Given the description of an element on the screen output the (x, y) to click on. 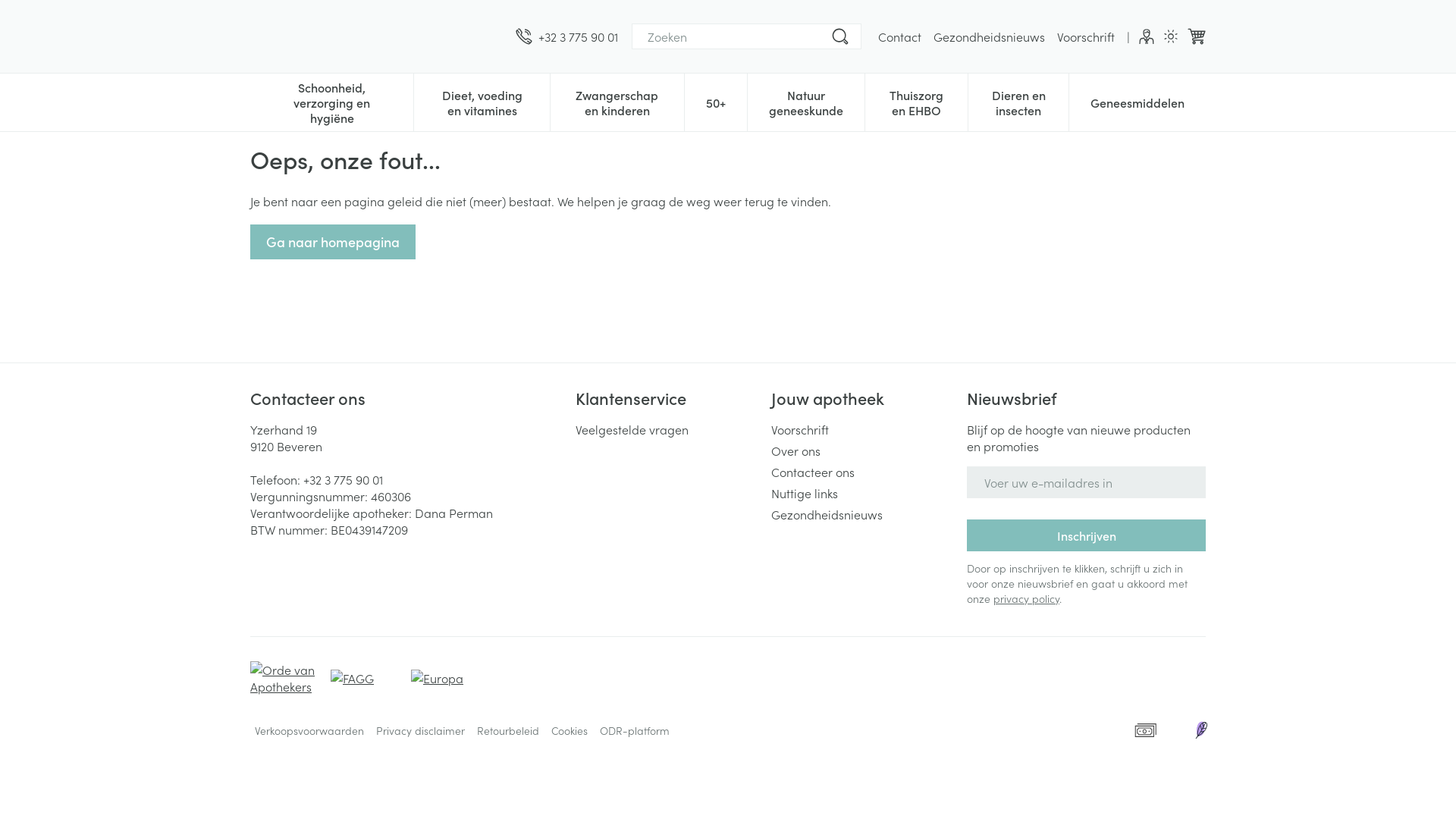
Zwangerschap en kinderen Element type: text (617, 100)
Winkelwagen Element type: text (1196, 36)
Dieren en insecten Element type: text (1018, 100)
Zoeken Element type: text (840, 36)
Over ons Element type: text (862, 450)
Thuiszorg en EHBO Element type: text (916, 100)
Nuttige links Element type: text (862, 492)
Natuur geneeskunde Element type: text (805, 100)
50+ Element type: text (715, 100)
Inschrijven Element type: text (1085, 535)
+32 3 775 90 01 Element type: text (566, 36)
Gezondheidsnieuws Element type: text (988, 36)
ODR-platform Element type: text (634, 729)
Voorschrift Element type: text (862, 428)
Klant menu Element type: text (1146, 35)
Contact Element type: text (899, 36)
Voorschrift Element type: text (1085, 36)
Cookies Element type: text (569, 729)
Gezondheidsnieuws Element type: text (862, 513)
+32 3 775 90 01 Element type: text (342, 478)
Ga naar homepagina Element type: text (332, 241)
Dieet, voeding en vitamines Element type: text (481, 100)
Apotheek van Nuffel de Vriendt Beveren Element type: hover (376, 36)
Contacteer ons Element type: text (862, 471)
Licht modus Element type: text (1170, 35)
Geneesmiddelen Element type: text (1137, 100)
Veelgestelde vragen Element type: text (667, 428)
Retourbeleid Element type: text (507, 729)
Privacy disclaimer Element type: text (420, 729)
privacy policy Element type: text (1026, 597)
Verkoopsvoorwaarden Element type: text (309, 729)
